Given the description of an element on the screen output the (x, y) to click on. 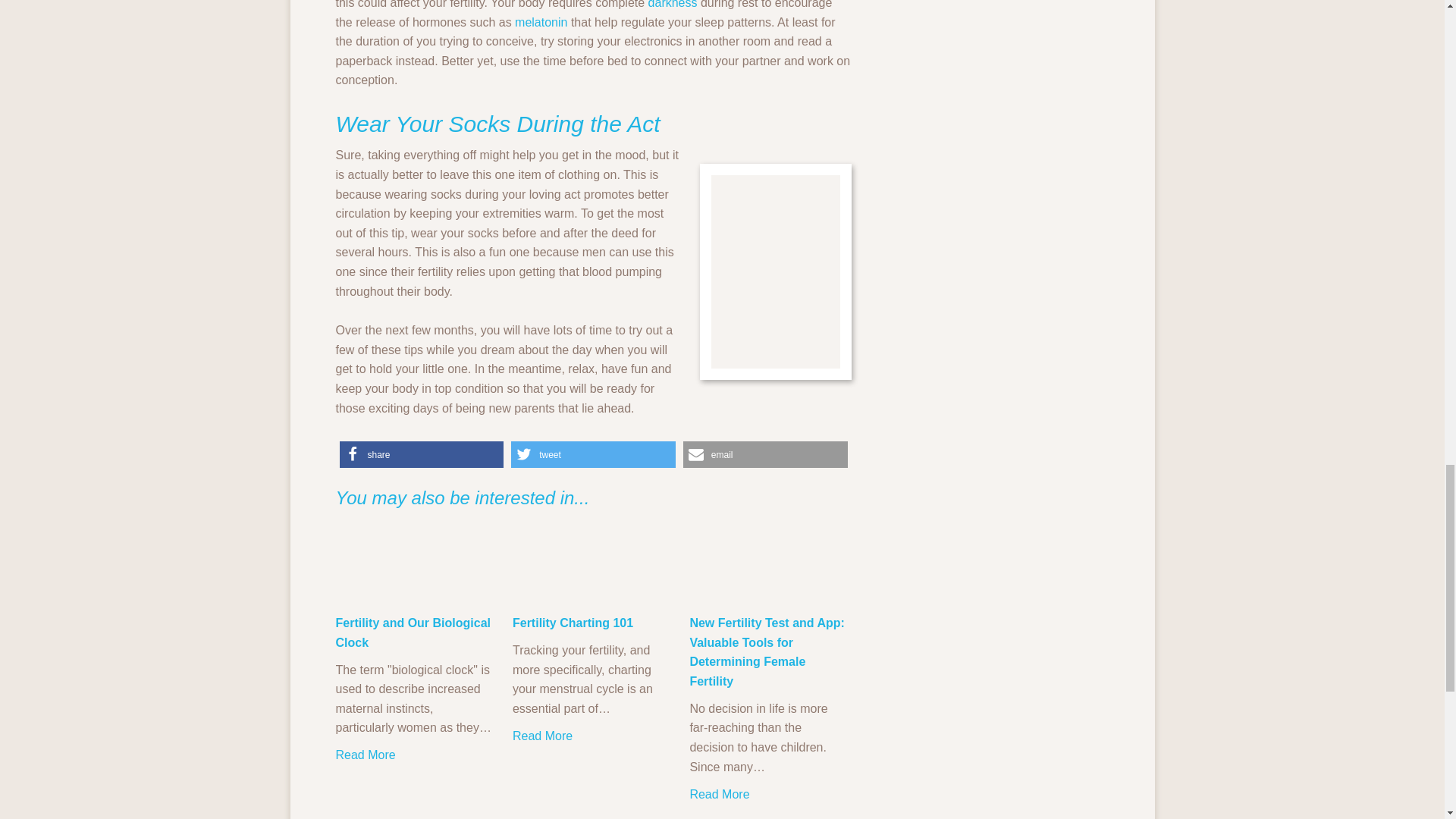
Share on Twitter (593, 454)
melatonin (541, 21)
Send by email (764, 454)
darkness (672, 4)
Share on Facebook (421, 454)
